Given the description of an element on the screen output the (x, y) to click on. 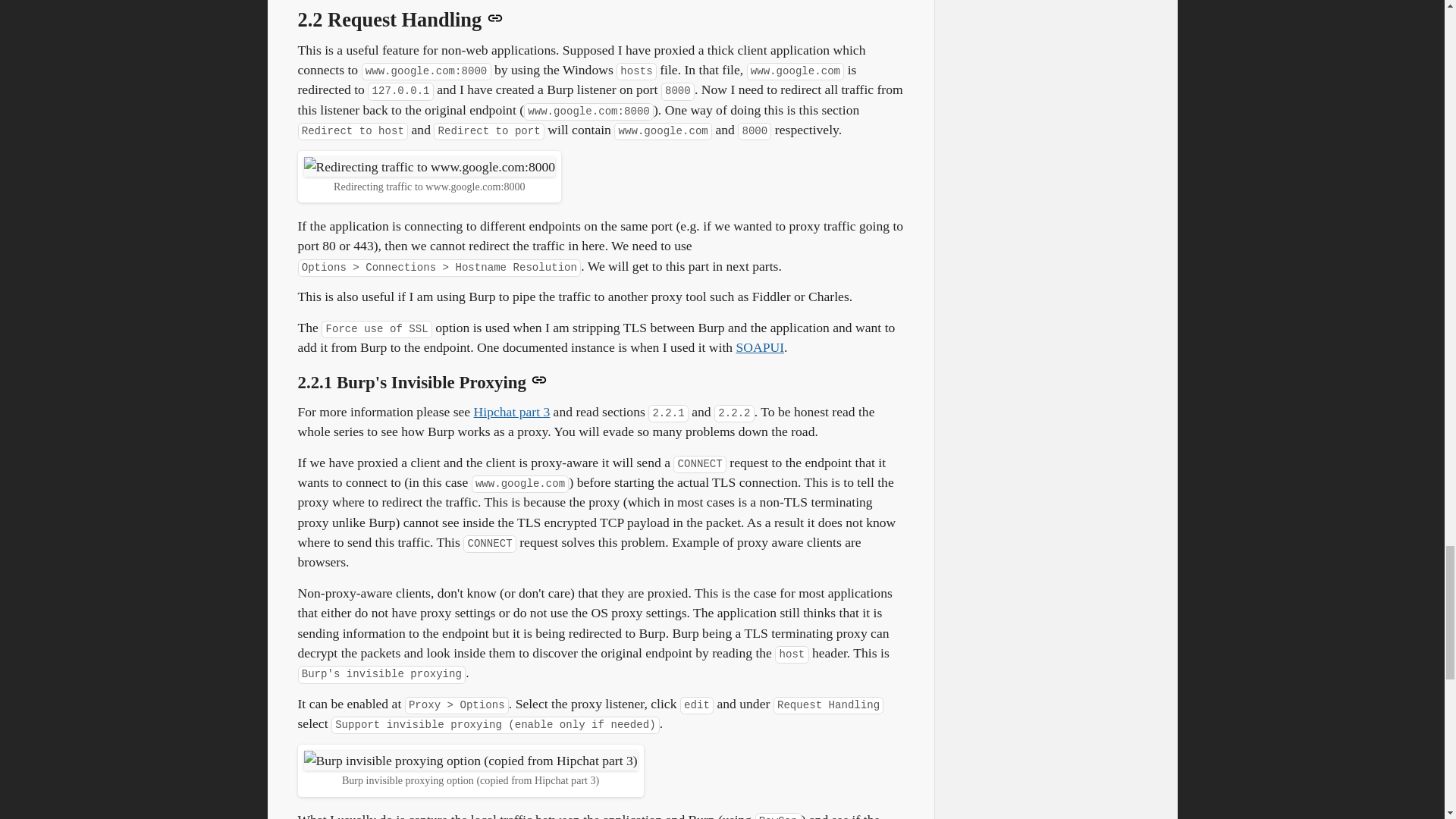
2.2.1 What is this CONNECT? (512, 411)
SOAPUI (760, 346)
Redirecting traffic to www.google.com:8000 (428, 166)
